Given the description of an element on the screen output the (x, y) to click on. 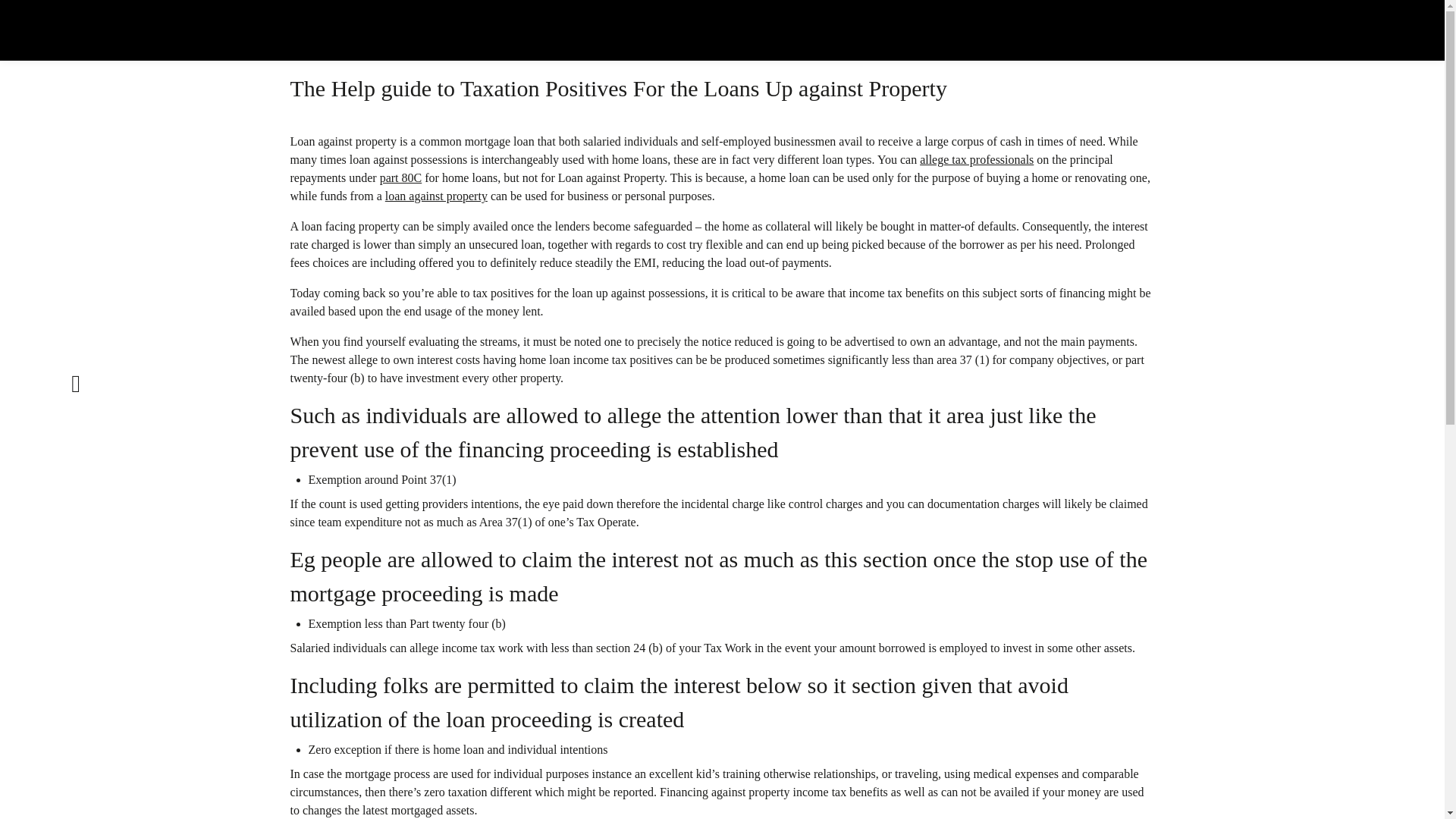
admin (322, 41)
cheap payday loans (400, 41)
Entradas de admin (322, 41)
